Given the description of an element on the screen output the (x, y) to click on. 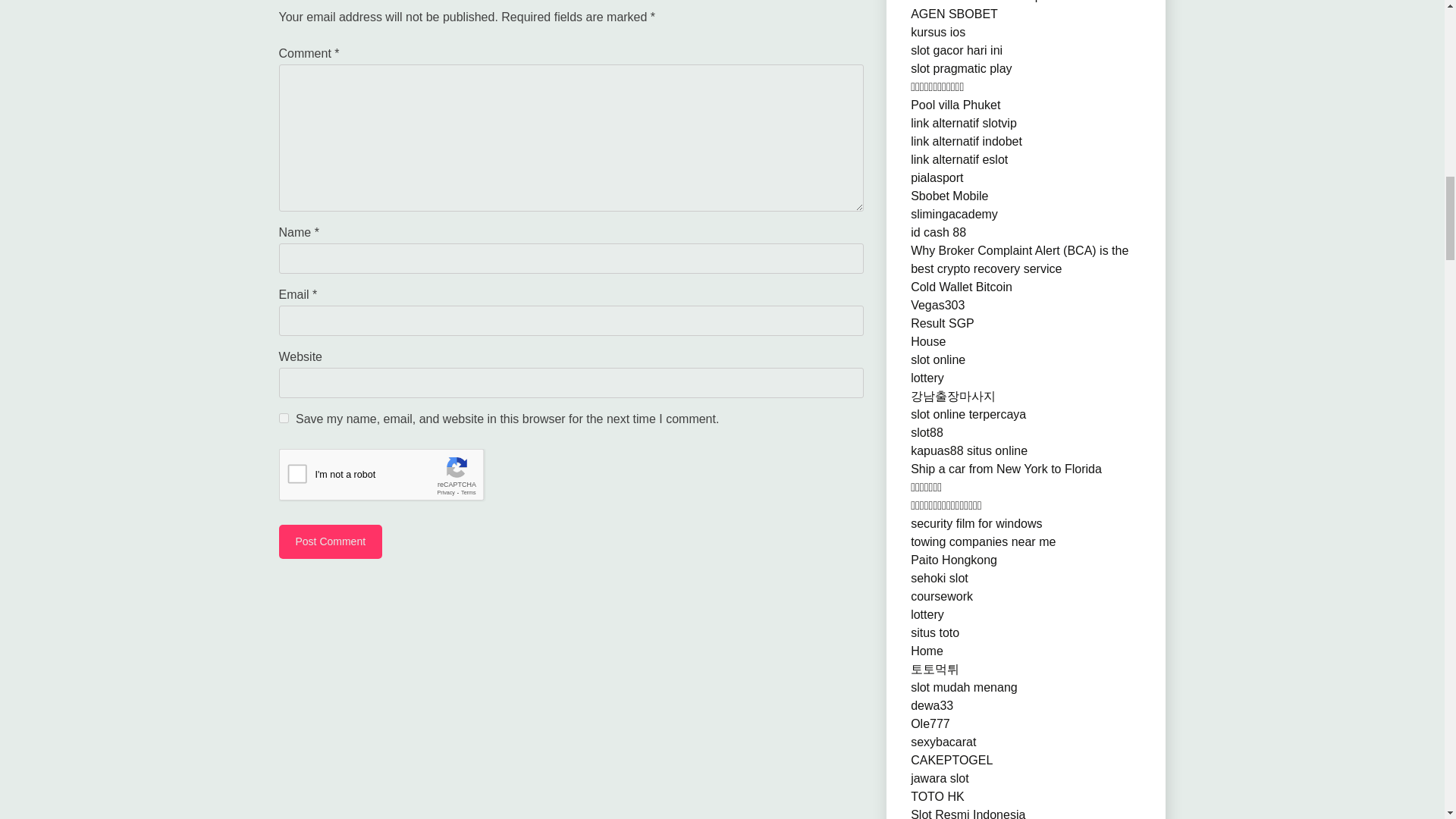
Post Comment (330, 541)
reCAPTCHA (394, 477)
yes (283, 418)
Post Comment (330, 541)
